Given the description of an element on the screen output the (x, y) to click on. 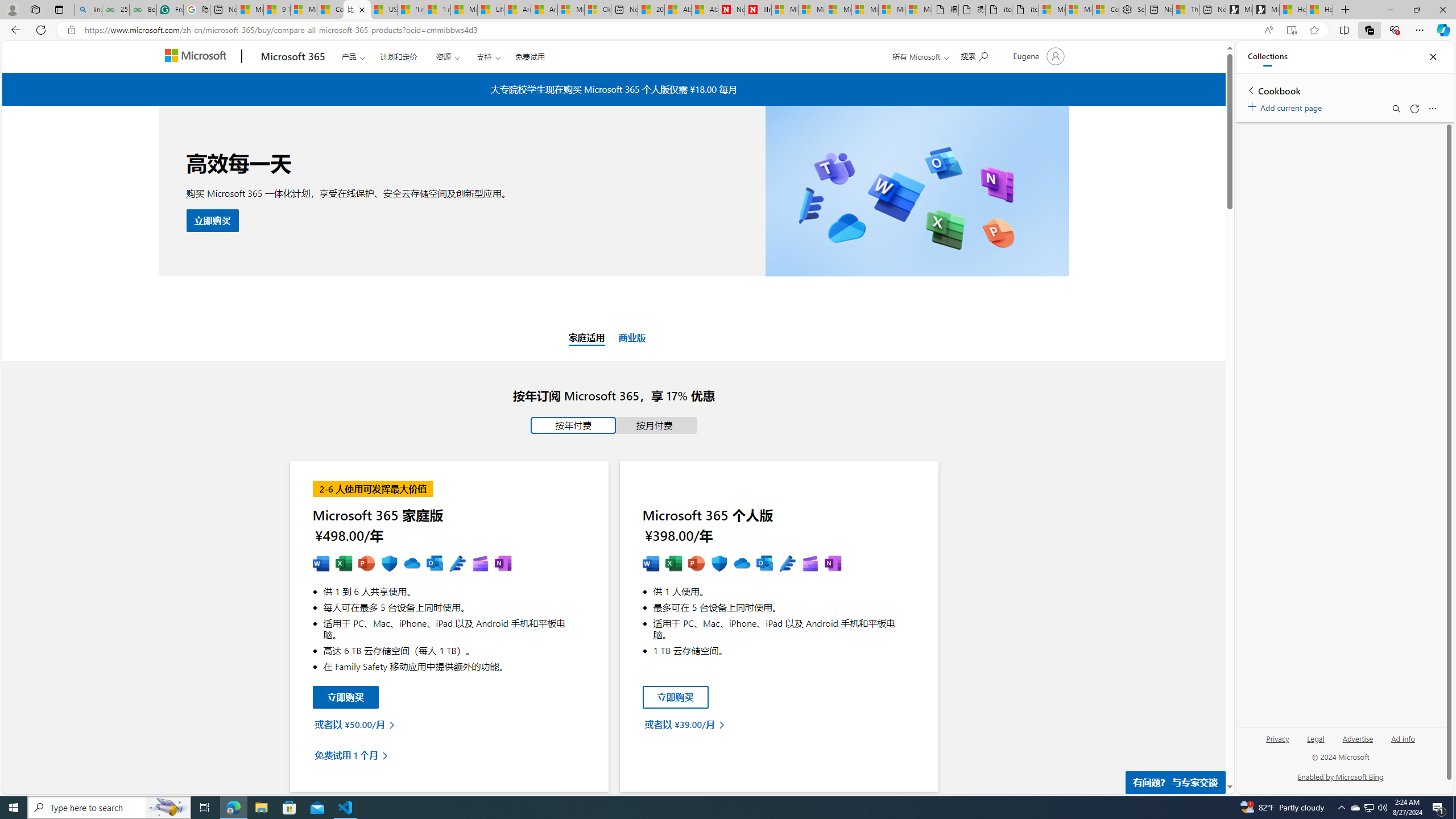
Consumer Health Data Privacy Policy (1105, 9)
Add current page (1286, 105)
